Given the description of an element on the screen output the (x, y) to click on. 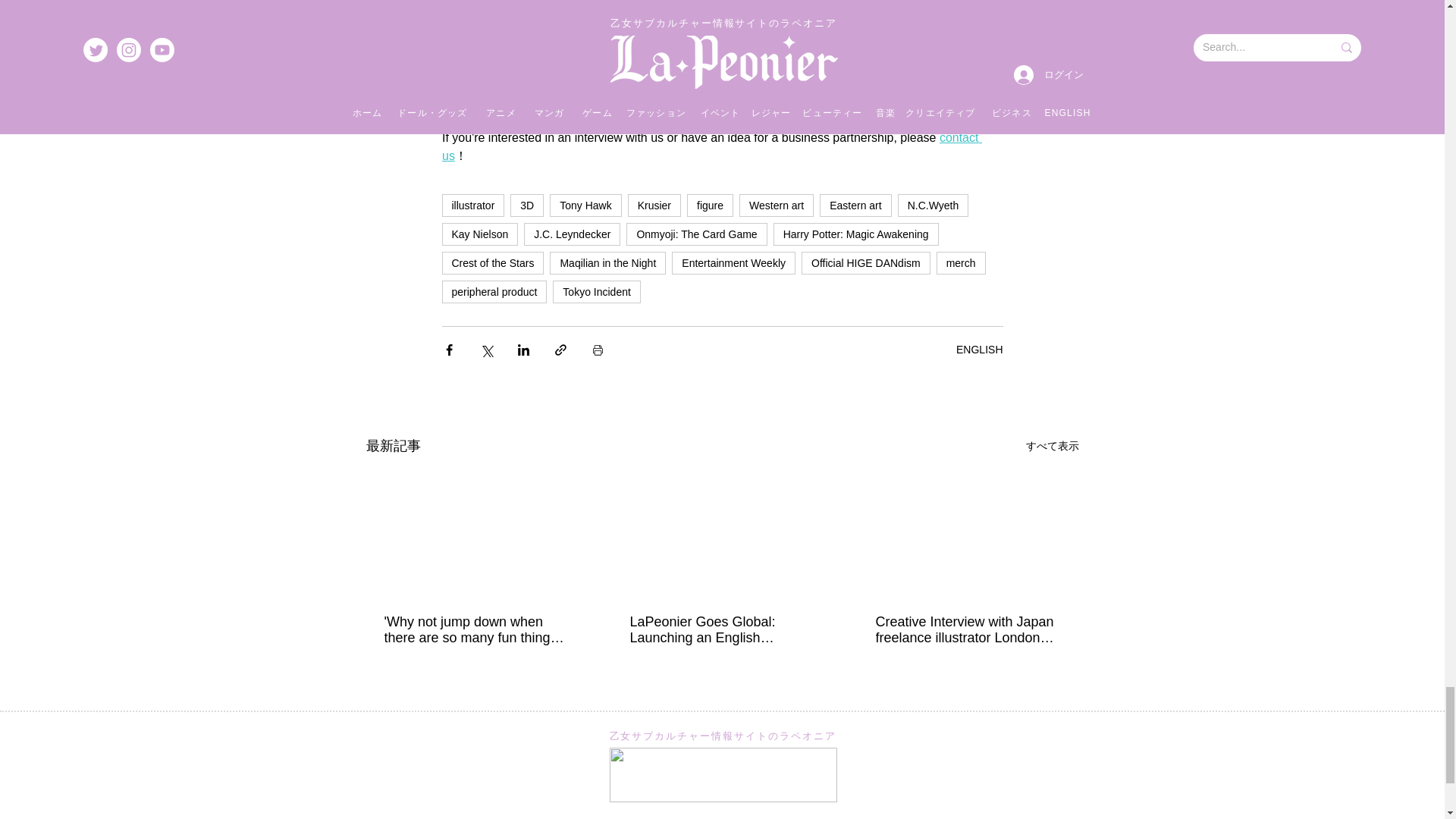
Western art (776, 205)
contact us (711, 146)
illustrator (472, 205)
Onmyoji: The Card Game (696, 233)
Harry Potter: Magic Awakening (856, 233)
N.C.Wyeth (933, 205)
Krusier (654, 205)
Kay Nielson (479, 233)
Eastern art (855, 205)
figure (710, 205)
J.C. Leyndecker (572, 233)
3D (527, 205)
Tony Hawk (585, 205)
